Given the description of an element on the screen output the (x, y) to click on. 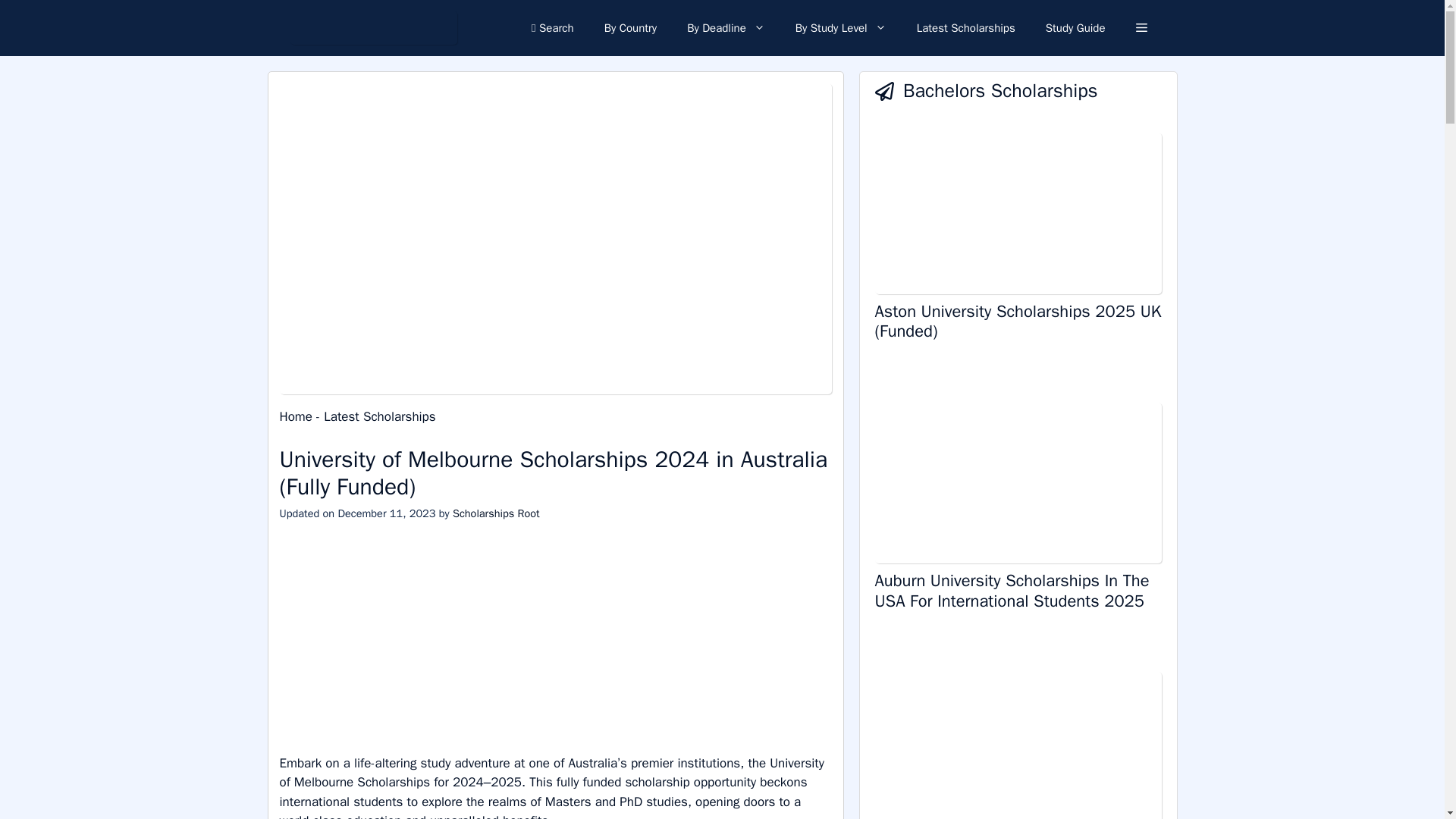
Latest Scholarships (965, 28)
By Country (630, 28)
Study Guide (1075, 28)
View all posts by Scholarships Root (496, 513)
By Study Level (840, 28)
By Deadline (725, 28)
